Given the description of an element on the screen output the (x, y) to click on. 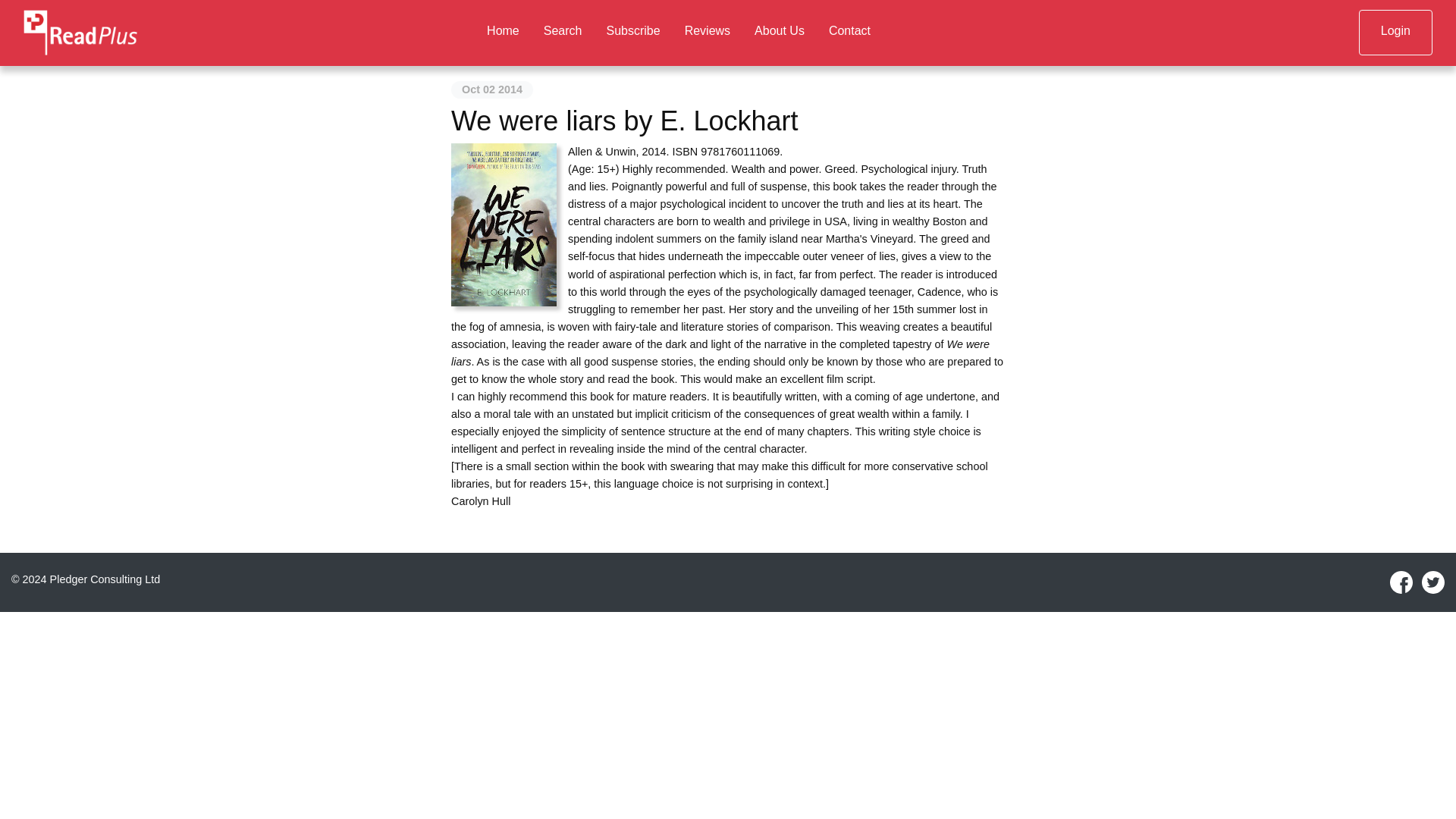
Contact (849, 32)
Search (562, 32)
Login (1395, 32)
Subscribe (632, 32)
Home (502, 32)
About Us (779, 32)
2024 Pledger Consulting Ltd (91, 579)
Reviews (707, 32)
